Given the description of an element on the screen output the (x, y) to click on. 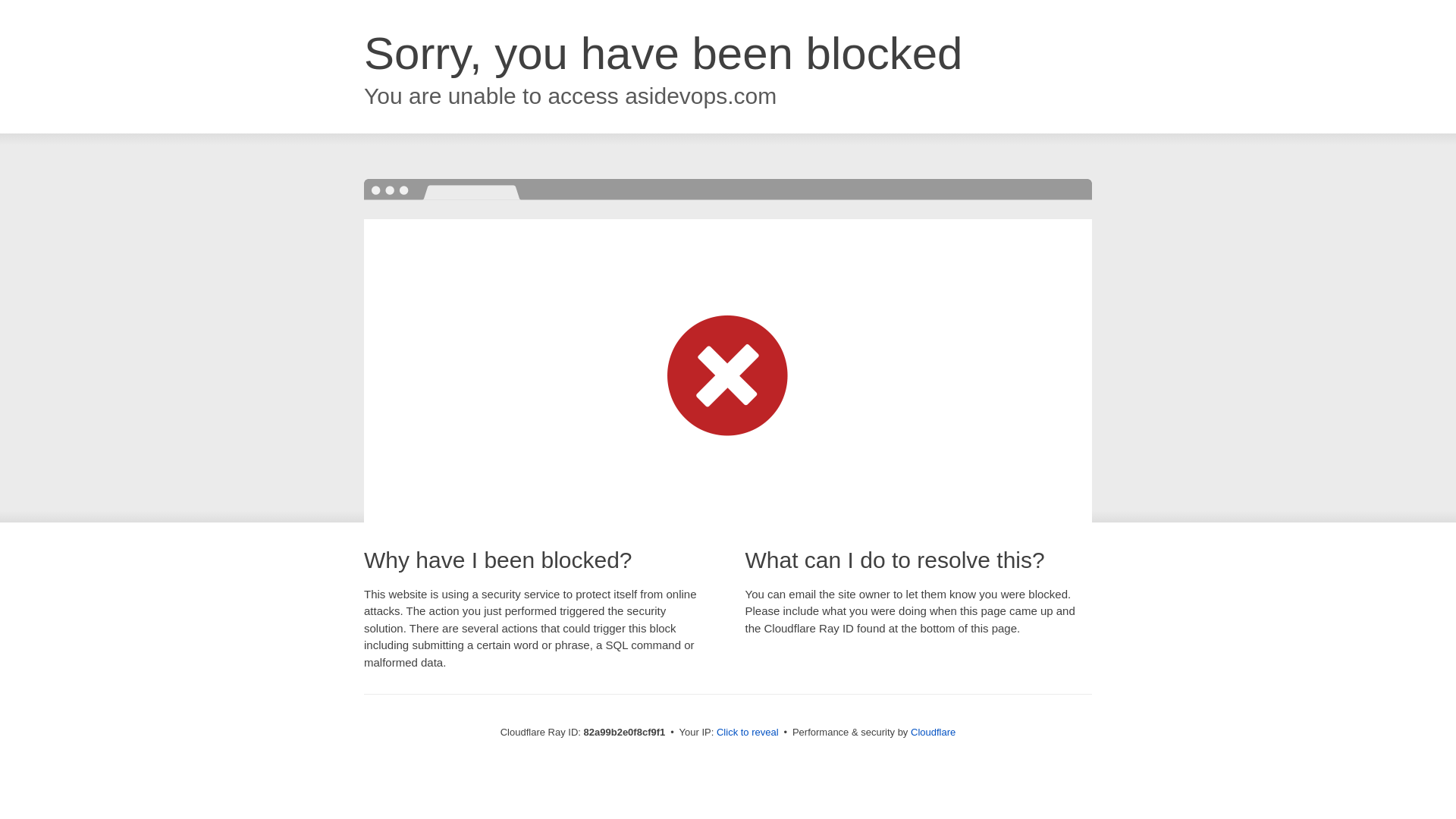
Click to reveal Element type: text (747, 732)
Cloudflare Element type: text (932, 731)
